Given the description of an element on the screen output the (x, y) to click on. 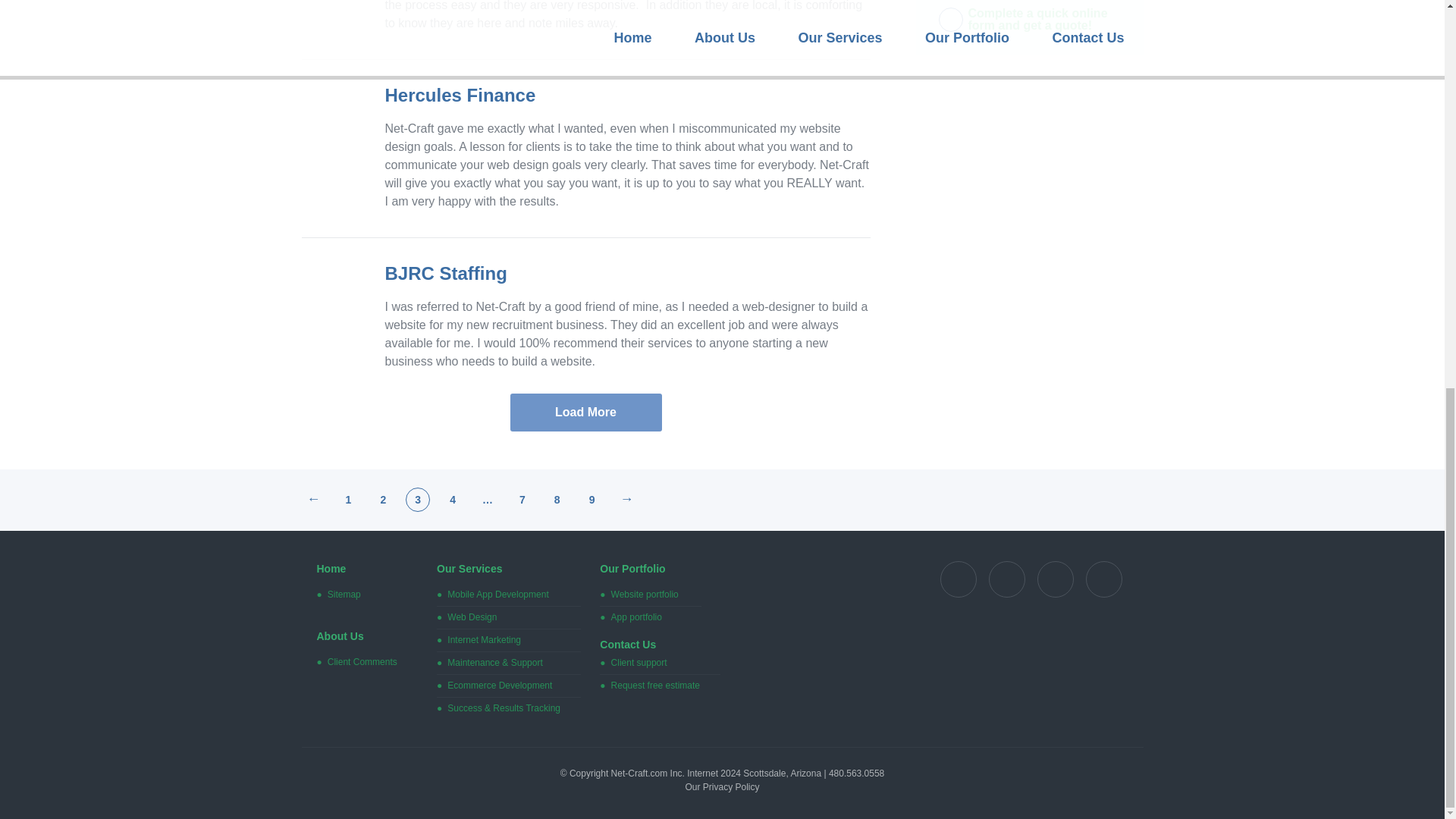
Complete a quick online form and get a quote! (1043, 19)
Internet Marketing (483, 639)
Web Design (471, 616)
Sitemap (344, 593)
Mobile App Development (497, 593)
2 (382, 500)
1 (347, 500)
Facebook (1005, 579)
Instagram (1103, 579)
Client Comments (362, 661)
9 (591, 500)
4 (452, 500)
About Us (340, 635)
8 (556, 500)
Home (331, 568)
